Given the description of an element on the screen output the (x, y) to click on. 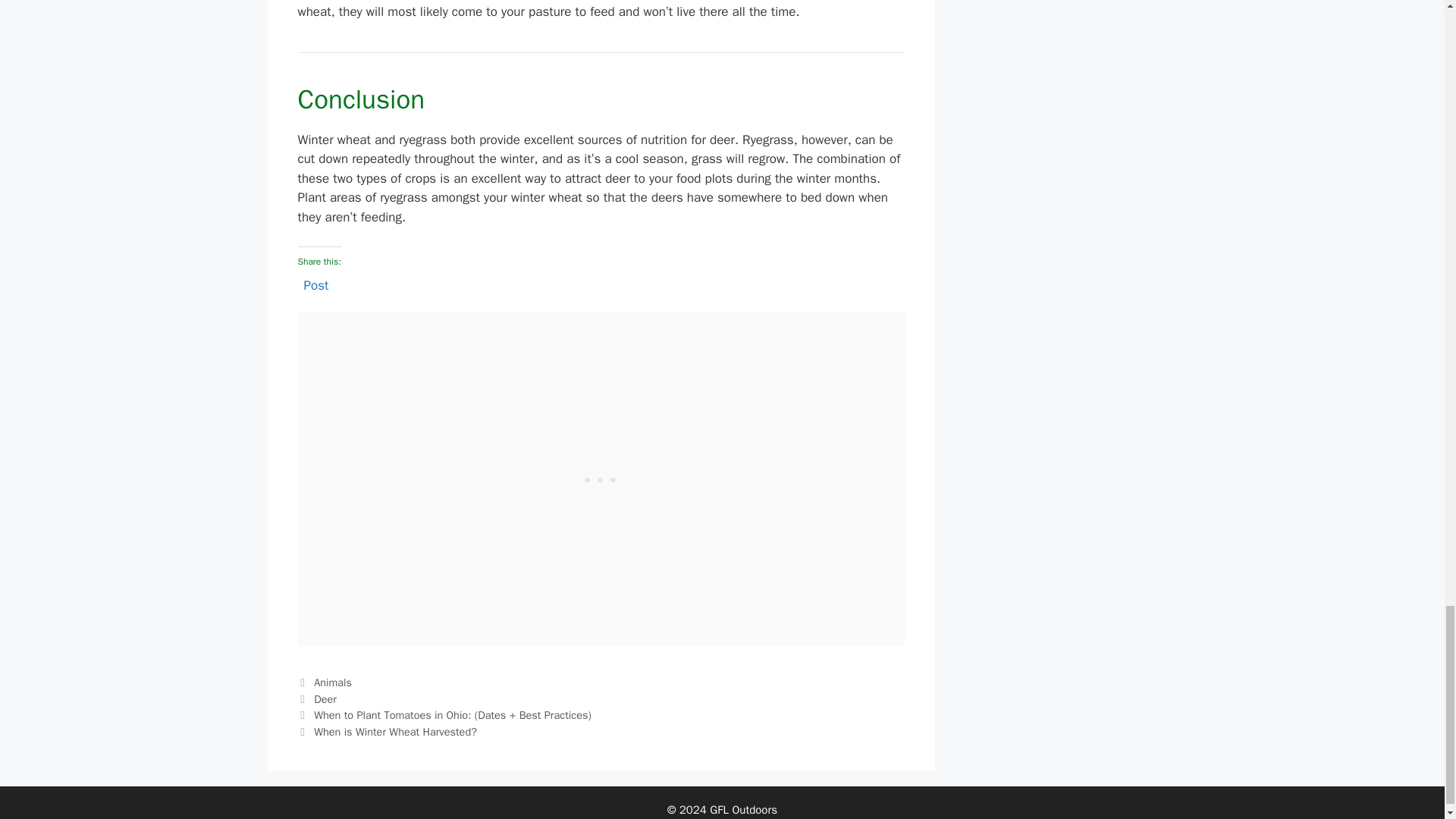
Animals (333, 682)
When is Winter Wheat Harvested? (395, 731)
Deer (325, 698)
Post (315, 282)
